Given the description of an element on the screen output the (x, y) to click on. 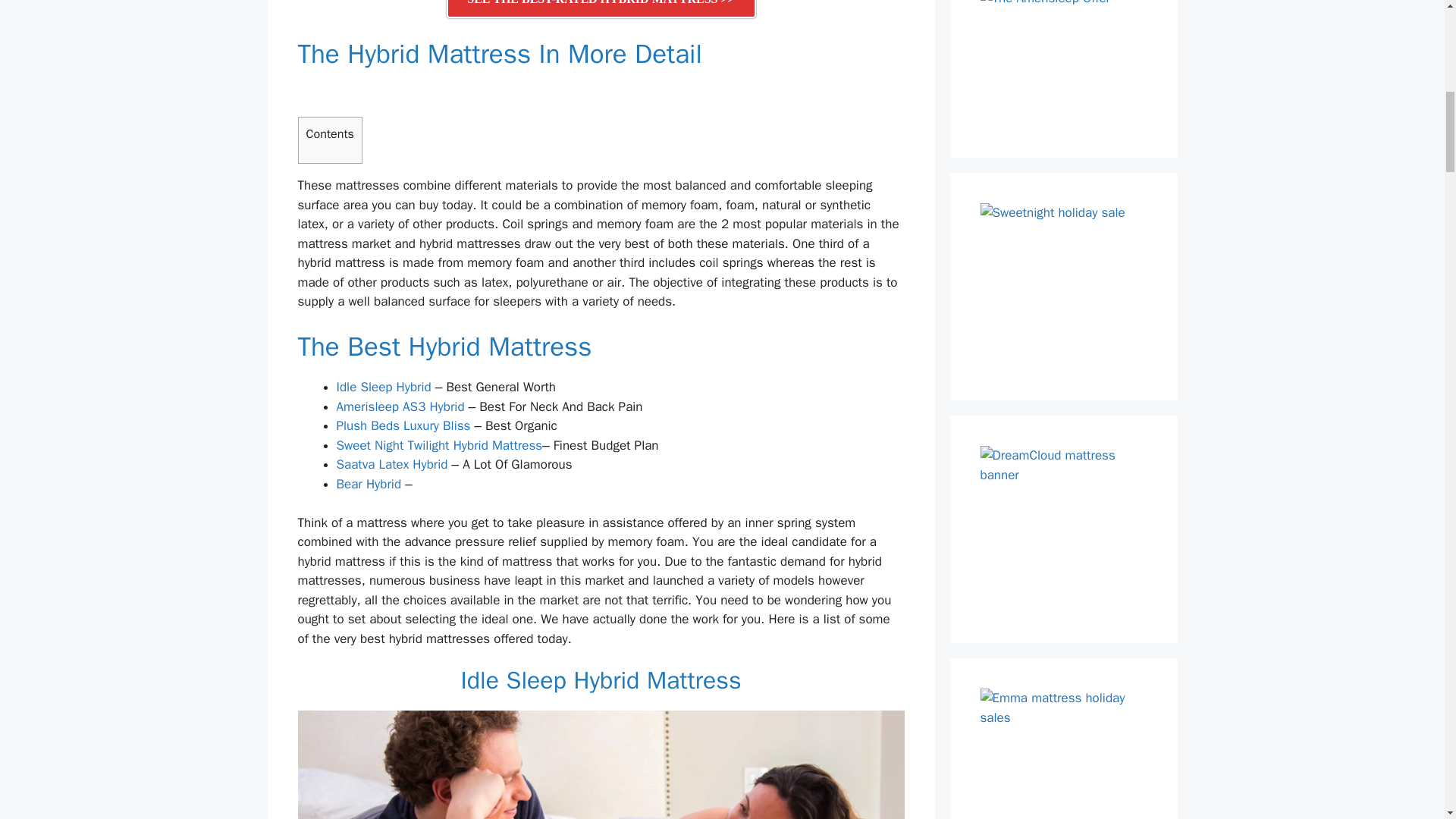
Saatva Latex Hybrid (392, 464)
Bear Hybrid (368, 483)
Idle Sleep Hybrid (383, 386)
Amerisleep AS3 Hybrid (400, 406)
Plush Beds Luxury Bliss (403, 425)
Sweet Night Twilight Hybrid Mattress (439, 445)
